Given the description of an element on the screen output the (x, y) to click on. 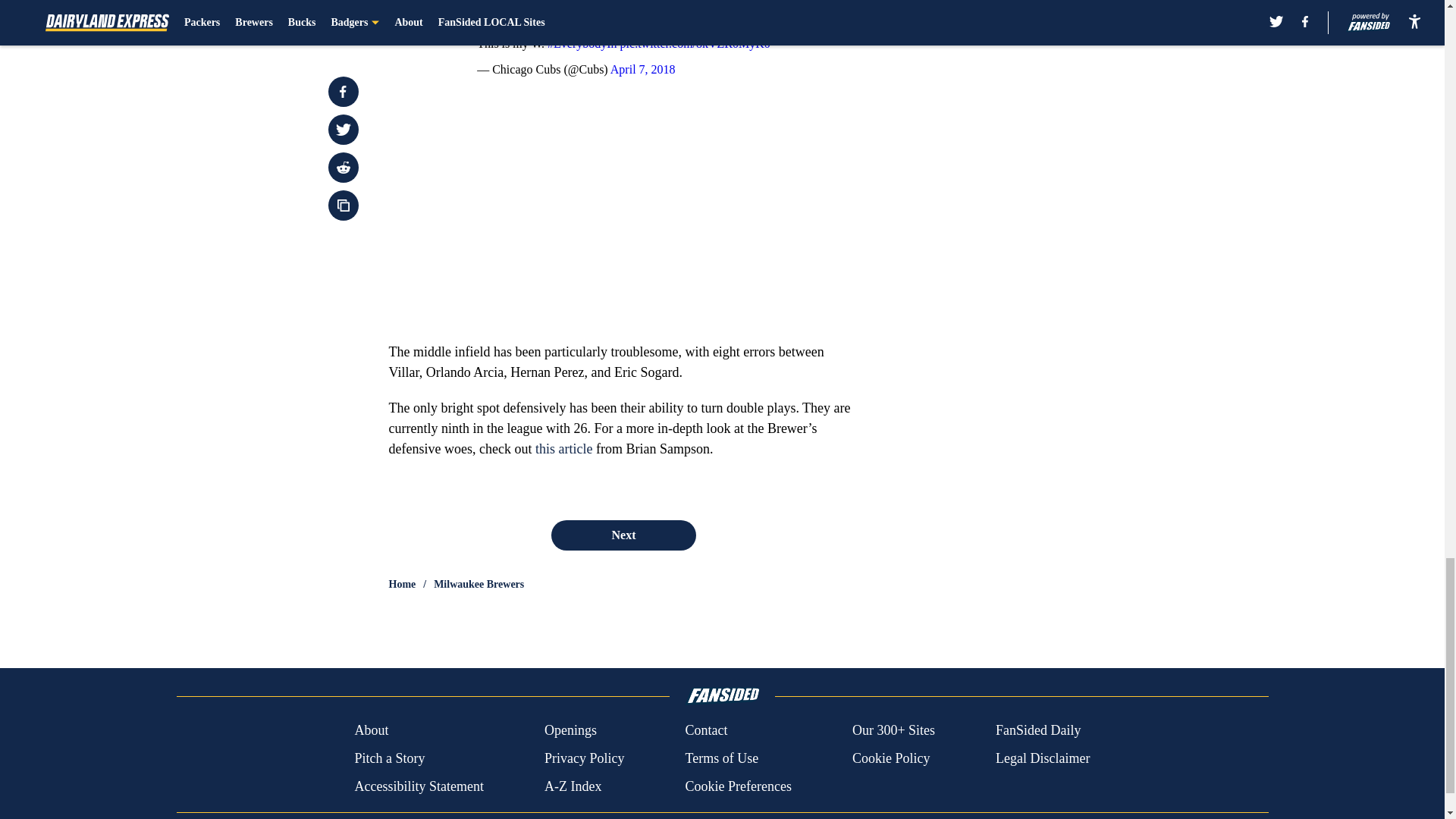
this article (563, 448)
Home (401, 584)
FanSided Daily (1038, 730)
Terms of Use (721, 758)
Contact (705, 730)
About (370, 730)
Privacy Policy (584, 758)
April 7, 2018 (642, 69)
Openings (570, 730)
Milwaukee Brewers (478, 584)
